Given the description of an element on the screen output the (x, y) to click on. 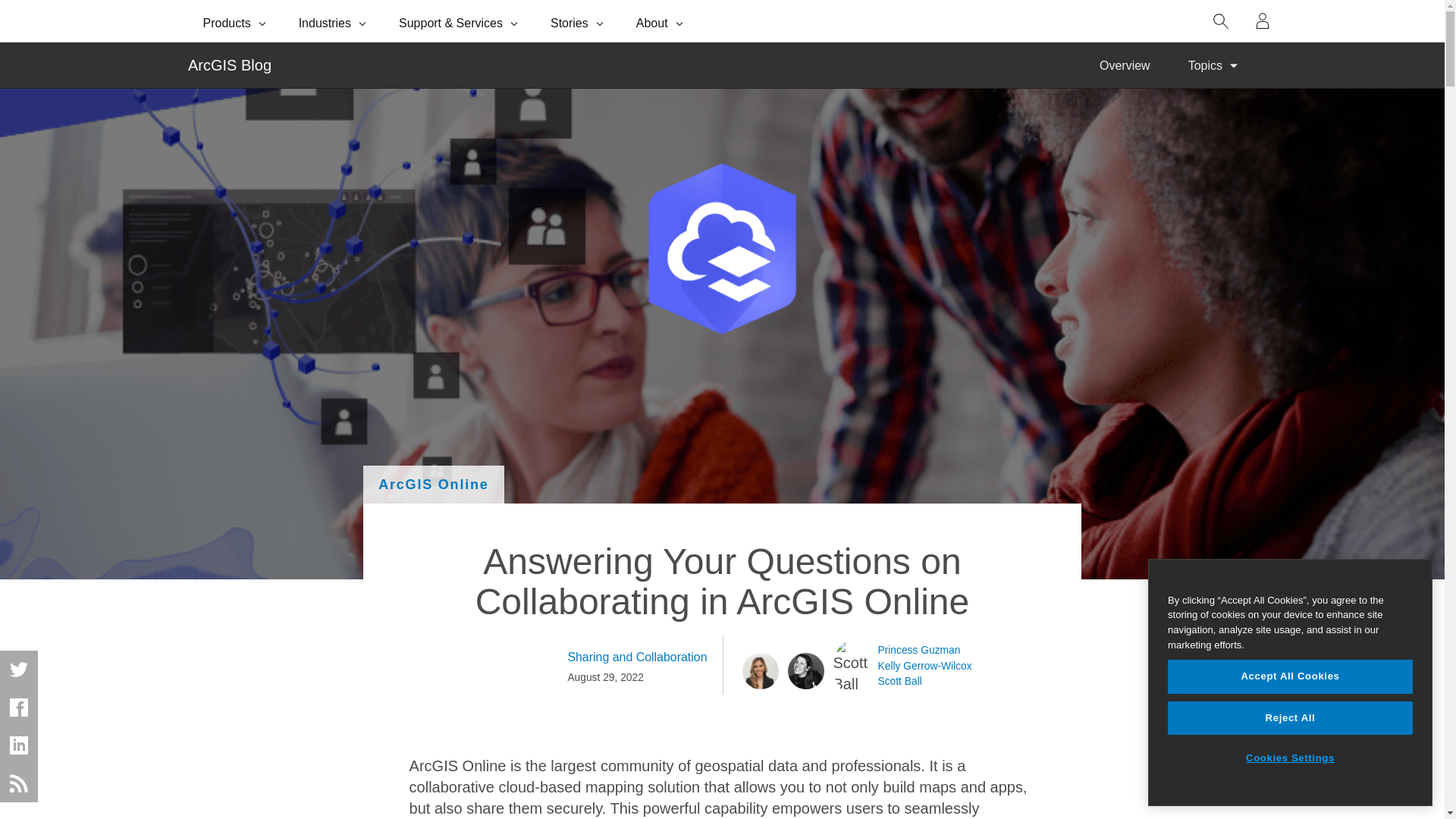
Sign In (1262, 20)
Search (1220, 20)
Products (235, 20)
Industries (333, 20)
